Given the description of an element on the screen output the (x, y) to click on. 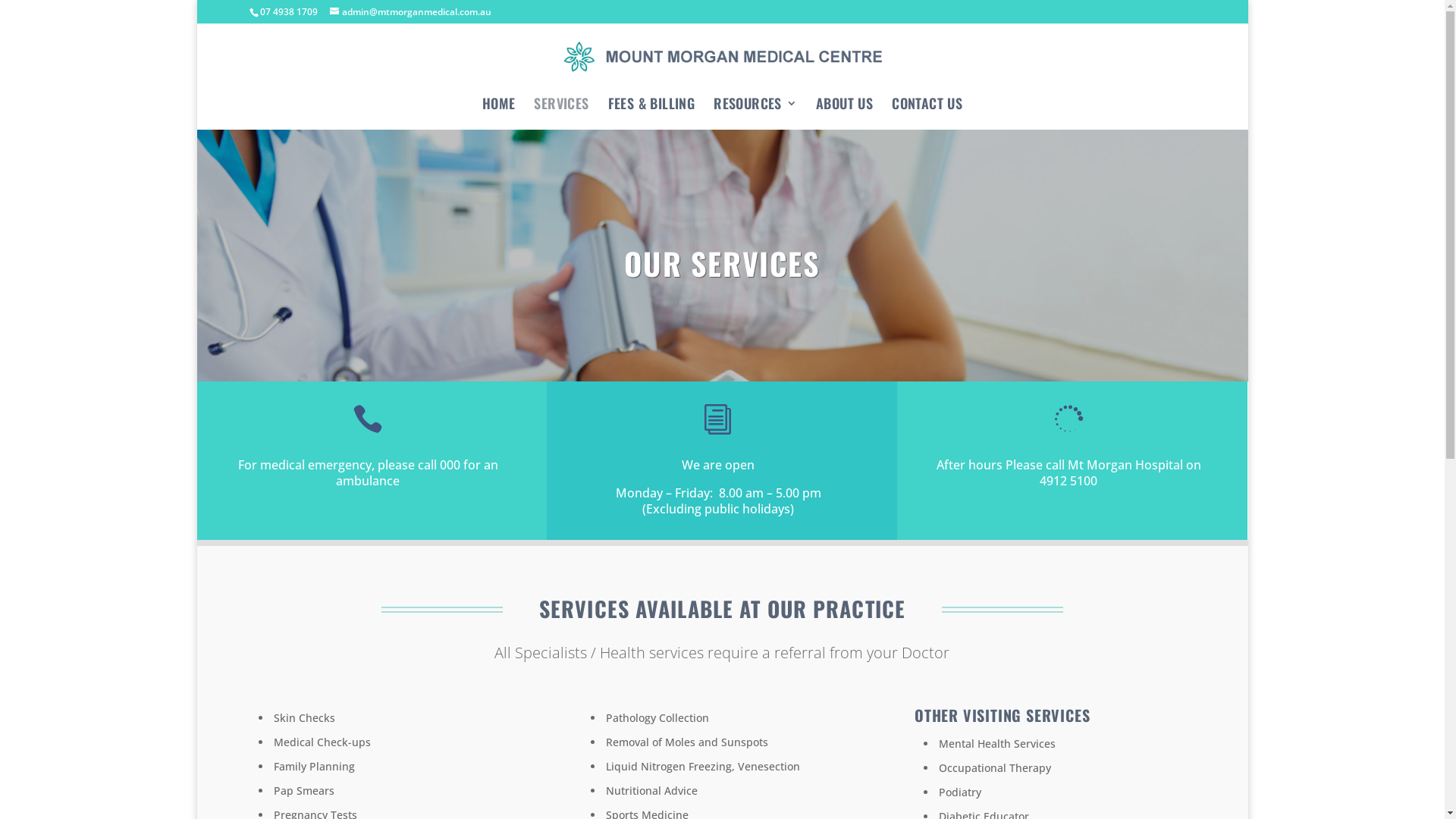
RESOURCES Element type: text (755, 108)
ABOUT US Element type: text (843, 108)
admin@mtmorganmedical.com.au Element type: text (410, 11)
HOME Element type: text (498, 108)
CONTACT US Element type: text (926, 108)
FEES & BILLING Element type: text (651, 108)
SERVICES Element type: text (560, 108)
